Given the description of an element on the screen output the (x, y) to click on. 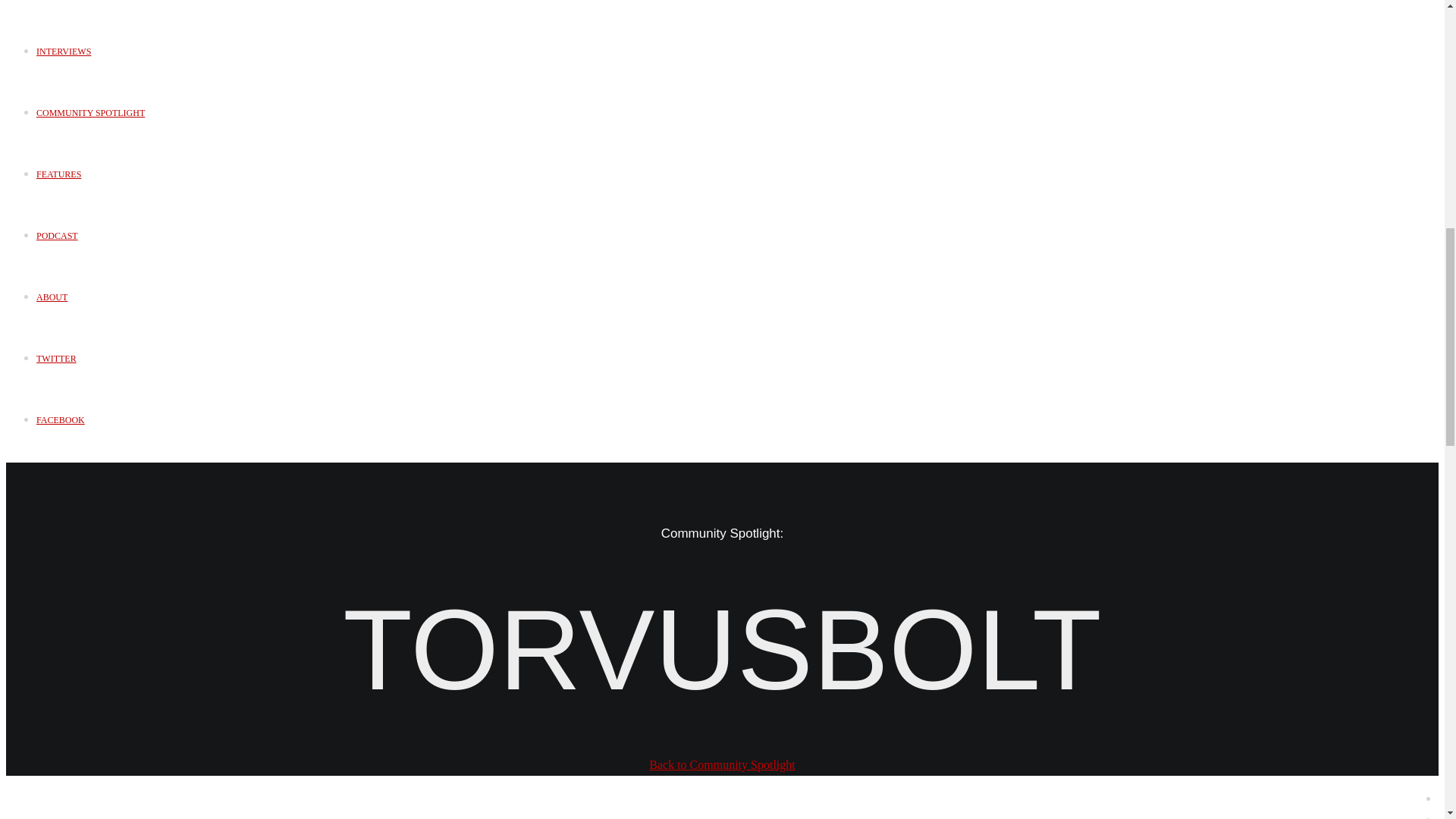
TWITTER (56, 357)
ABOUT (51, 296)
COMMUNITY SPOTLIGHT (90, 112)
INTERVIEWS (63, 50)
PODCAST (57, 235)
Back to Community Spotlight (721, 764)
FEATURES (58, 173)
FACEBOOK (60, 419)
